Given the description of an element on the screen output the (x, y) to click on. 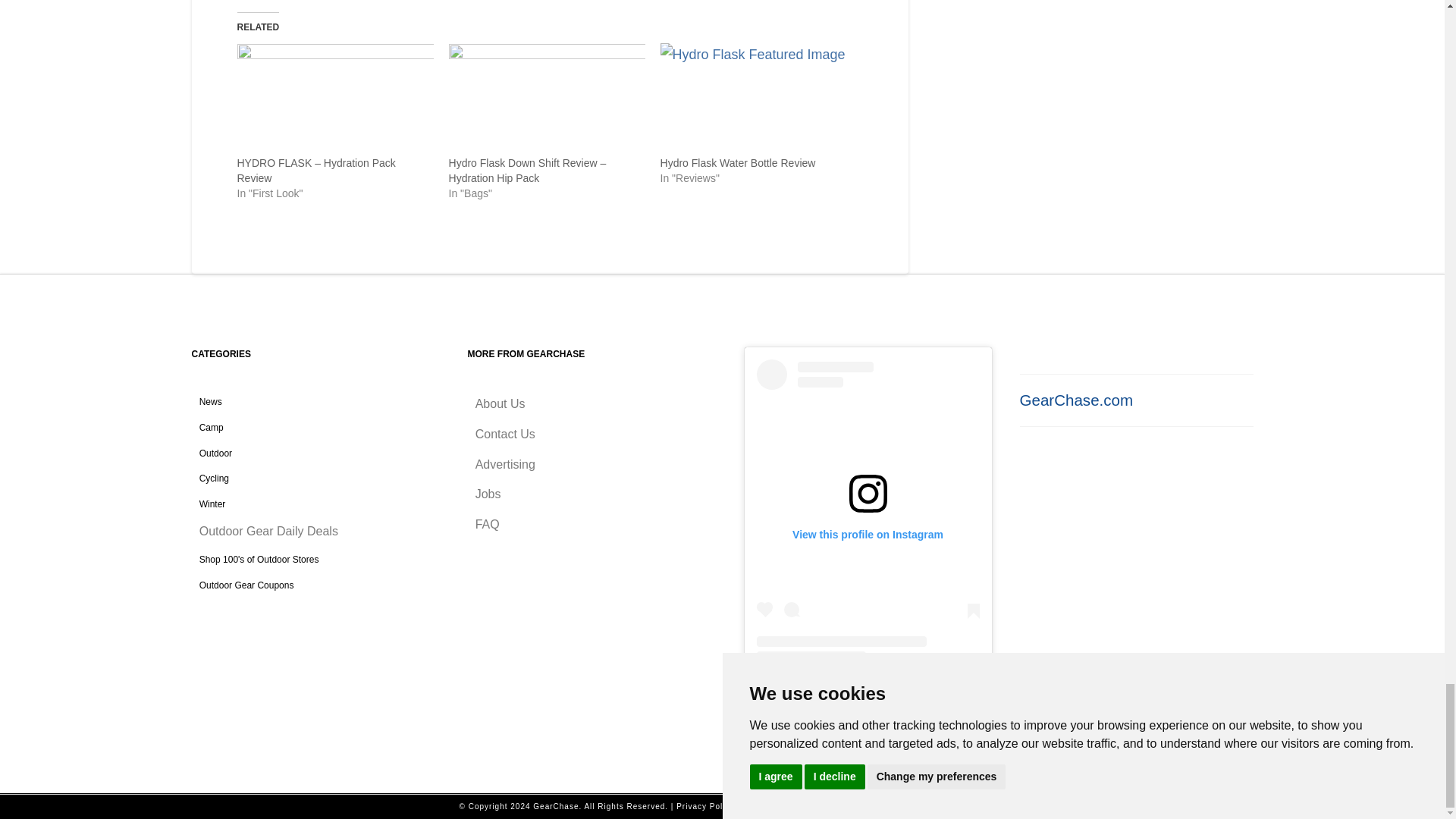
Hydro Flask Water Bottle Review (759, 99)
Hydro Flask Water Bottle Review (738, 162)
